Given the description of an element on the screen output the (x, y) to click on. 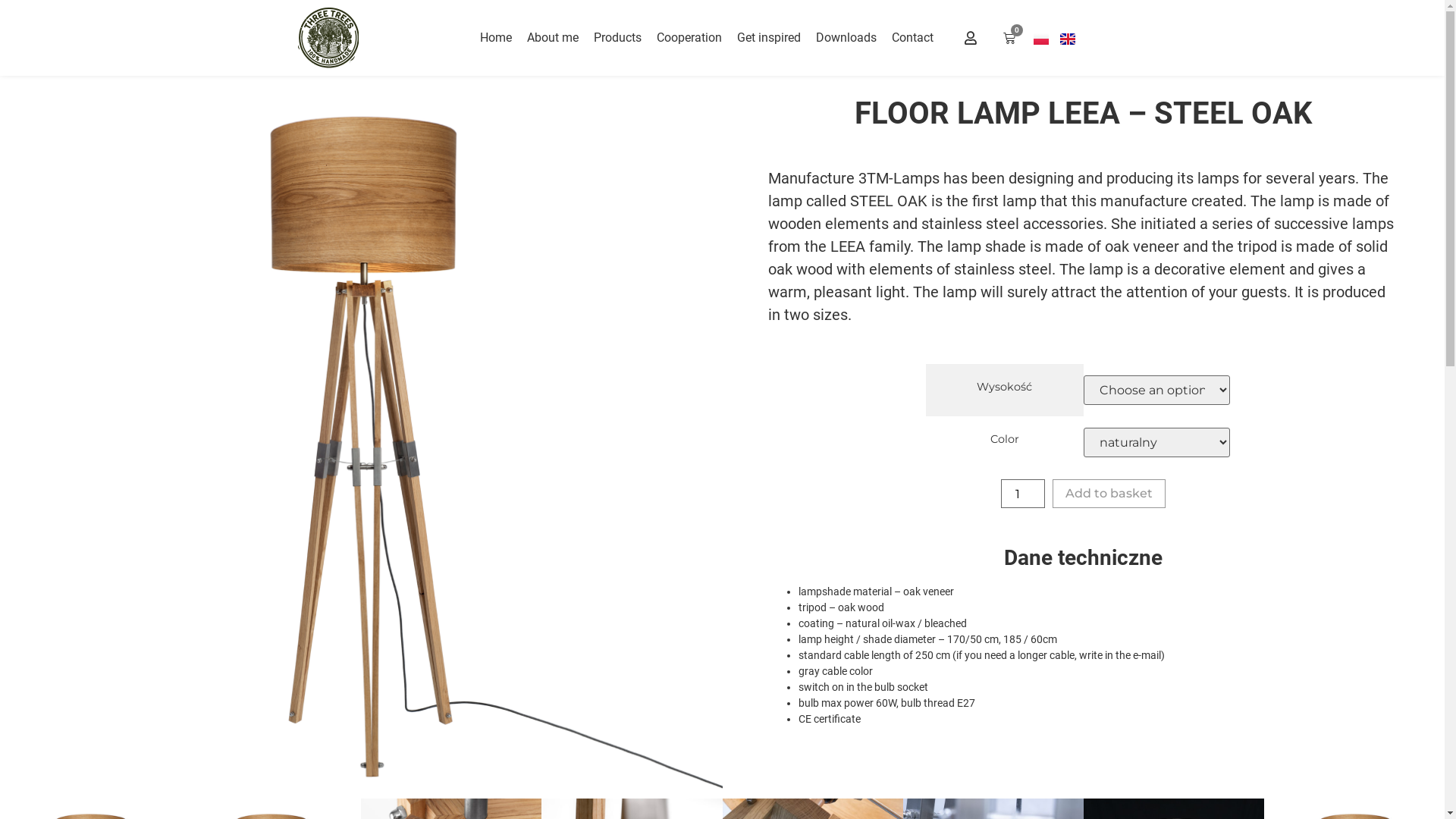
logo Element type: hover (327, 37)
Home Element type: text (495, 37)
Products Element type: text (617, 37)
Cooperation Element type: text (689, 37)
Get inspired Element type: text (768, 37)
About me Element type: text (552, 37)
Qty Element type: hover (1022, 493)
Contact Element type: text (912, 37)
Downloads Element type: text (846, 37)
Add to basket Element type: text (1108, 493)
